Given the description of an element on the screen output the (x, y) to click on. 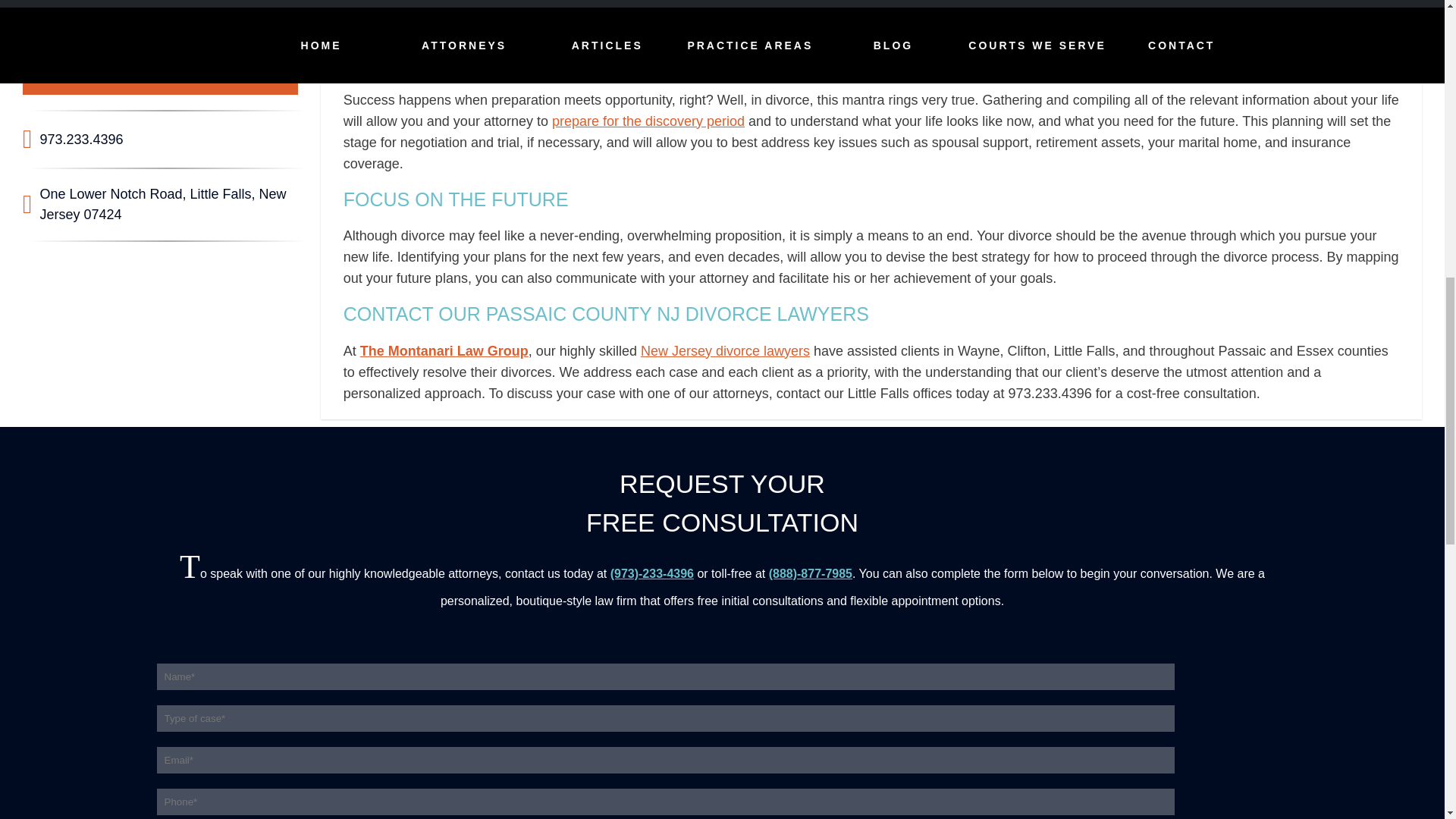
FREE CONSULTATION (160, 76)
